Given the description of an element on the screen output the (x, y) to click on. 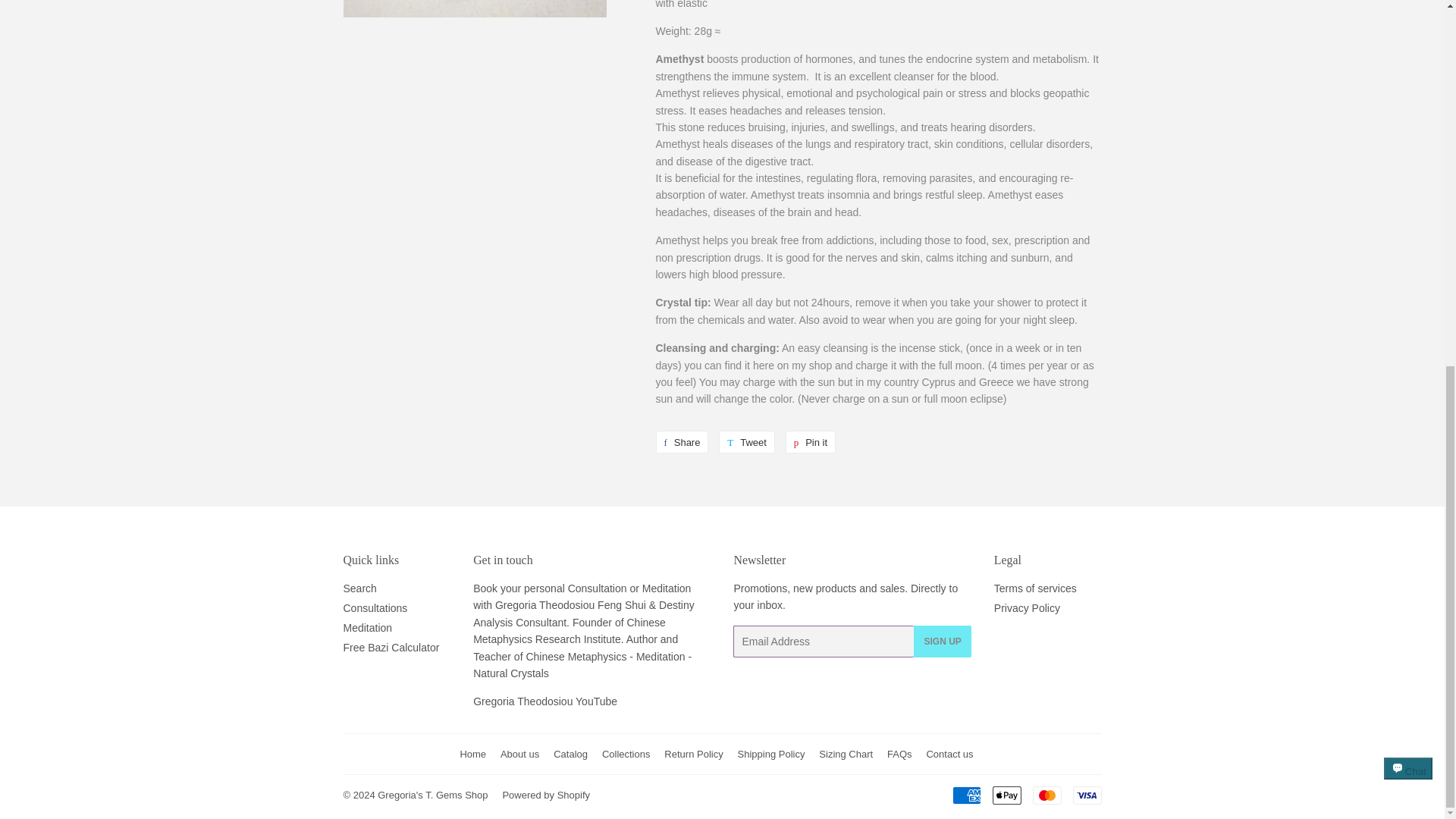
Terms of services (1035, 588)
Free Bazi Calculator (390, 647)
Mastercard (1046, 795)
Search (358, 588)
Shopify online store chat (1408, 123)
Consultations (374, 607)
Pin on Pinterest (810, 441)
Privacy Policy (681, 441)
